Given the description of an element on the screen output the (x, y) to click on. 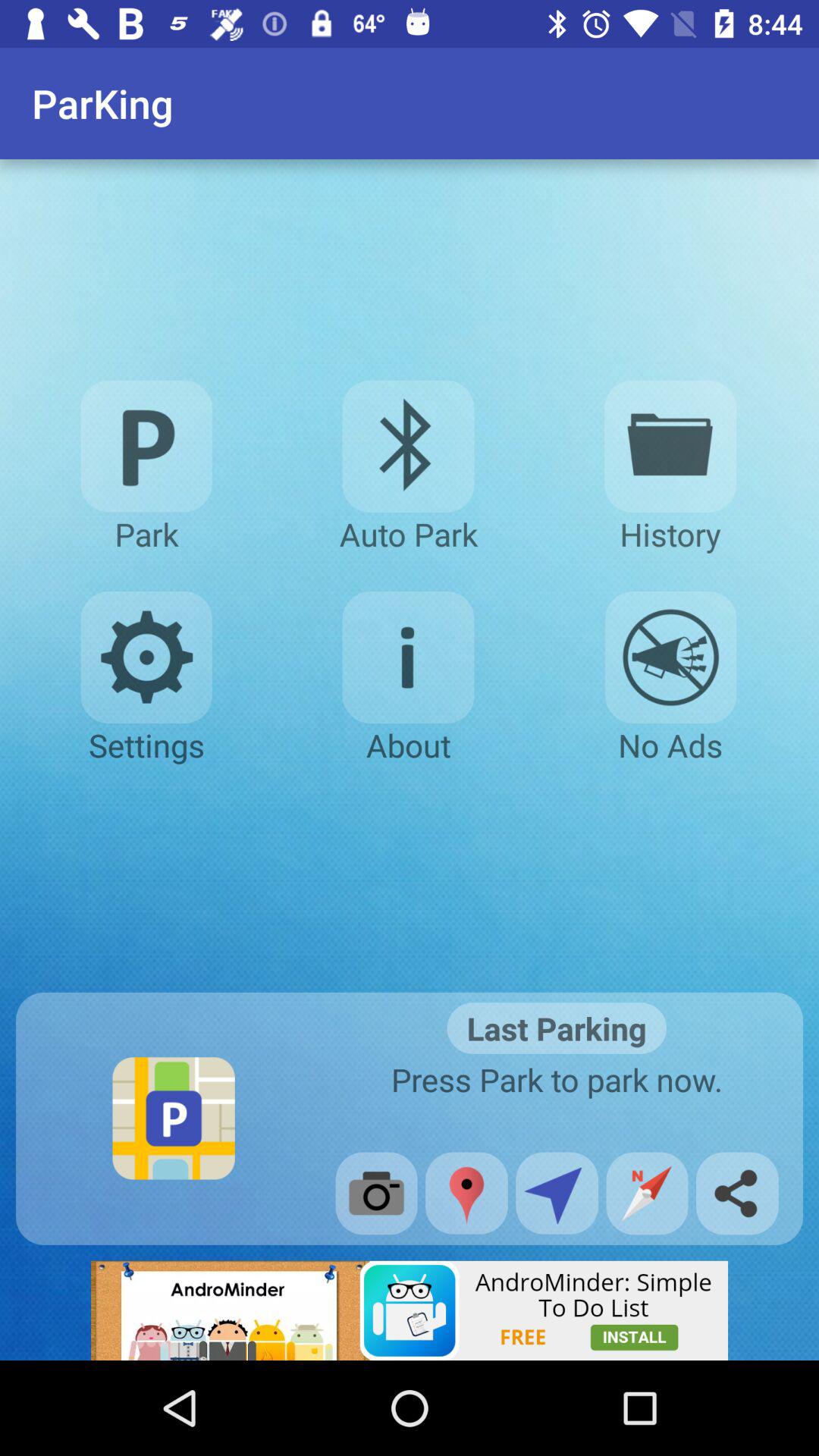
automatic parking detection option (408, 446)
